Given the description of an element on the screen output the (x, y) to click on. 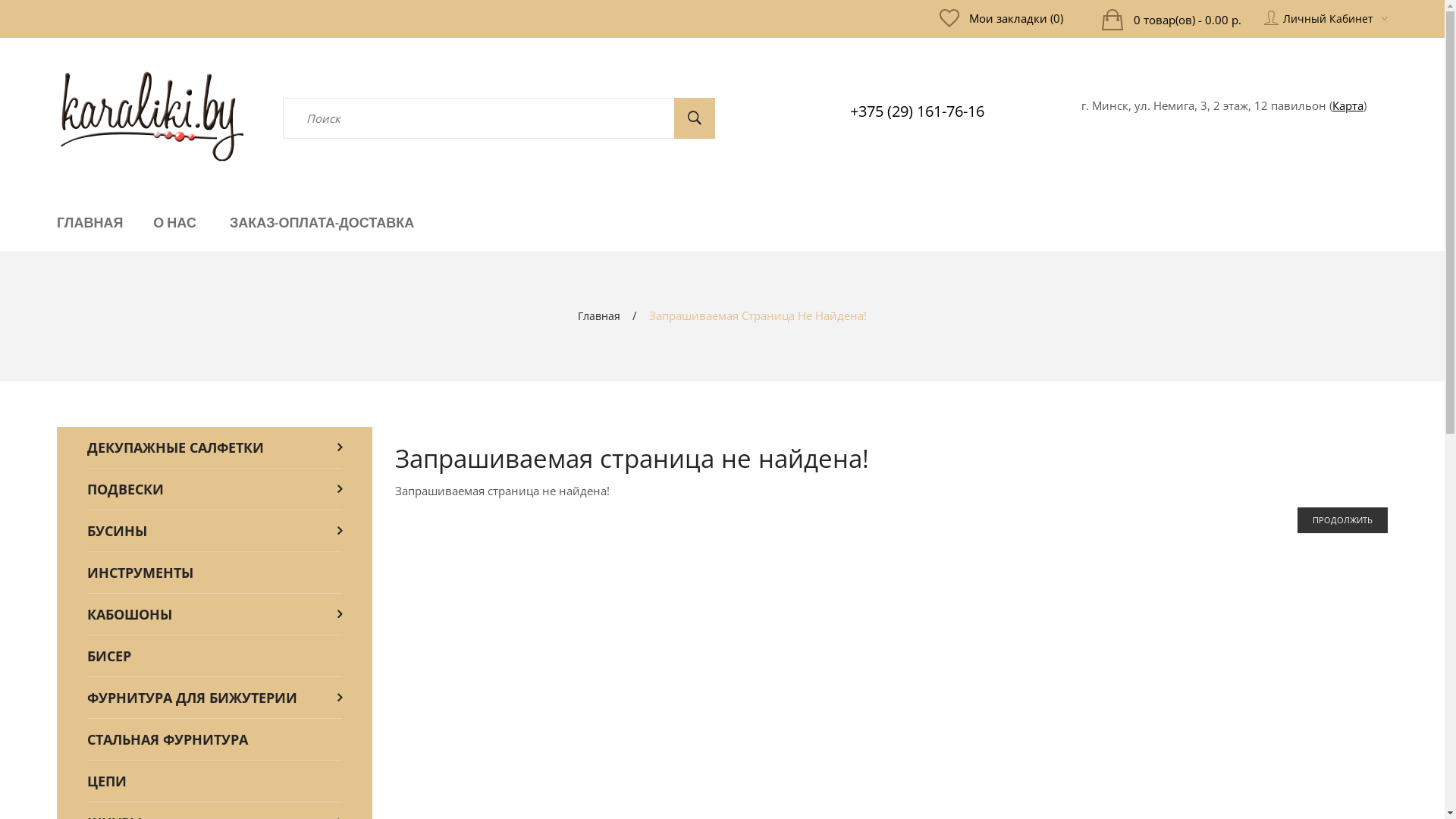
+375 (29) 161-76-16 Element type: text (917, 110)
Karaliki.by Element type: hover (151, 116)
